Given the description of an element on the screen output the (x, y) to click on. 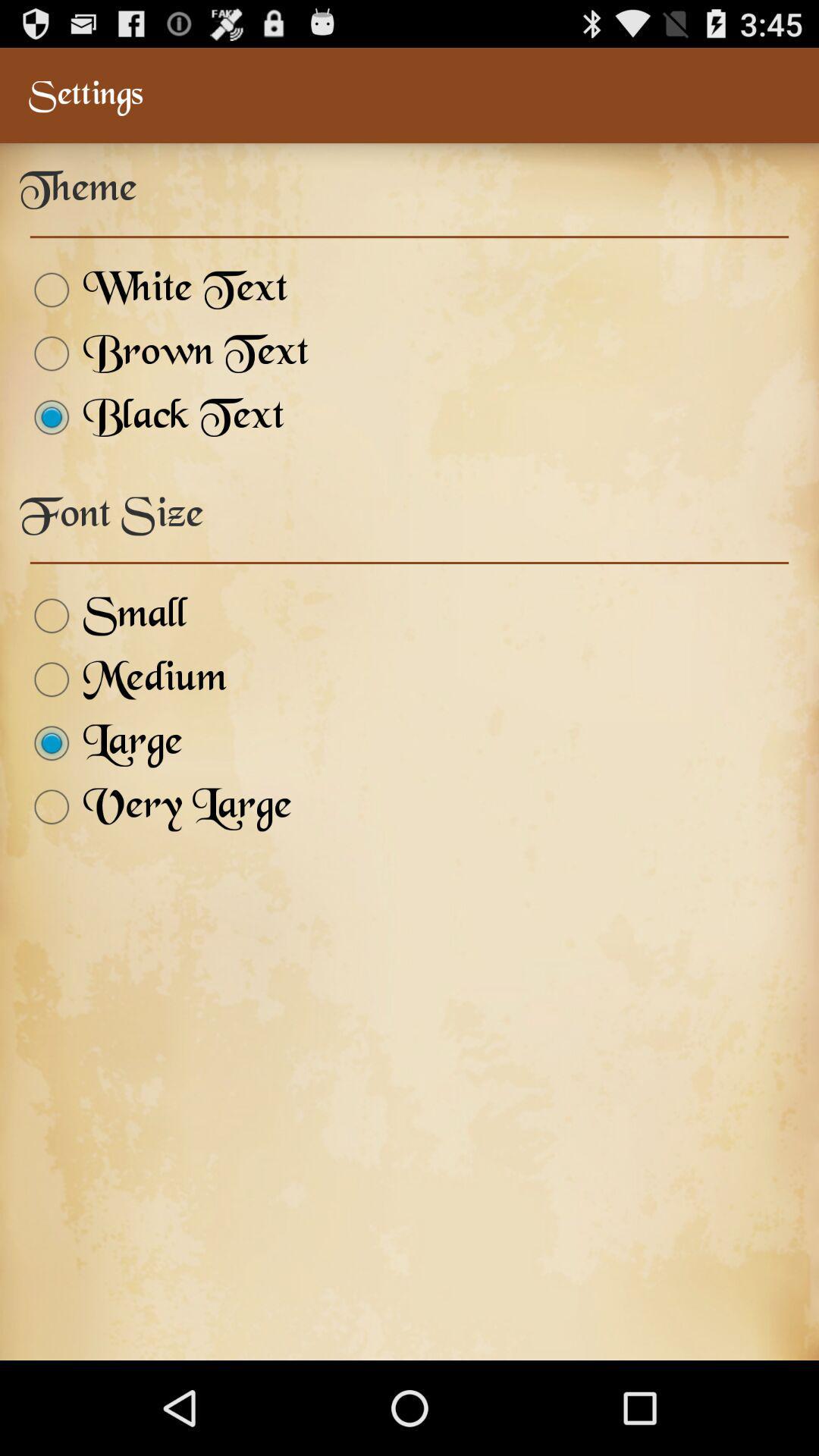
scroll until white text (153, 289)
